Given the description of an element on the screen output the (x, y) to click on. 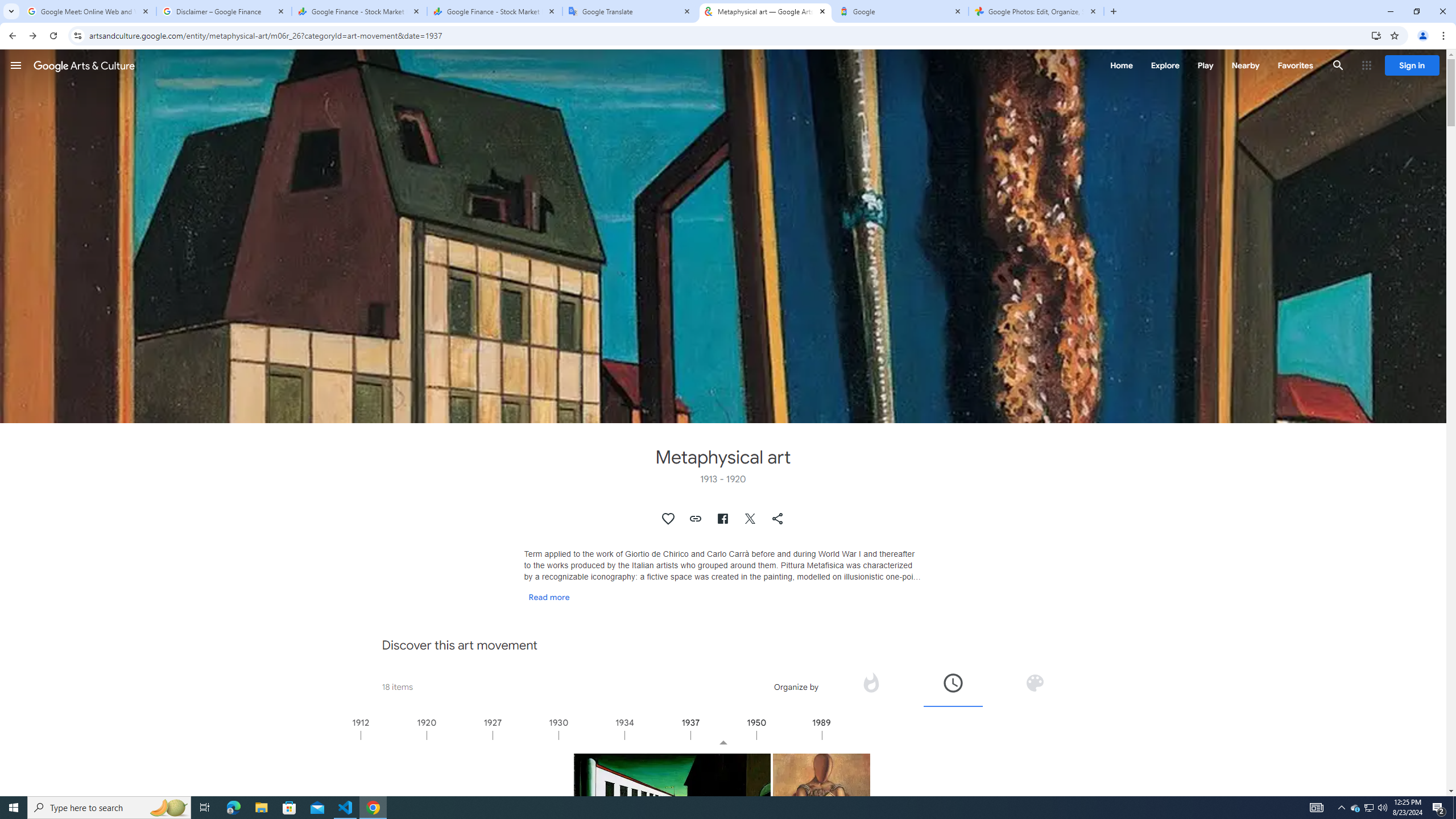
Explore (1164, 65)
1920 (459, 734)
Organize by color (1034, 686)
Share on Facebook (722, 518)
